Given the description of an element on the screen output the (x, y) to click on. 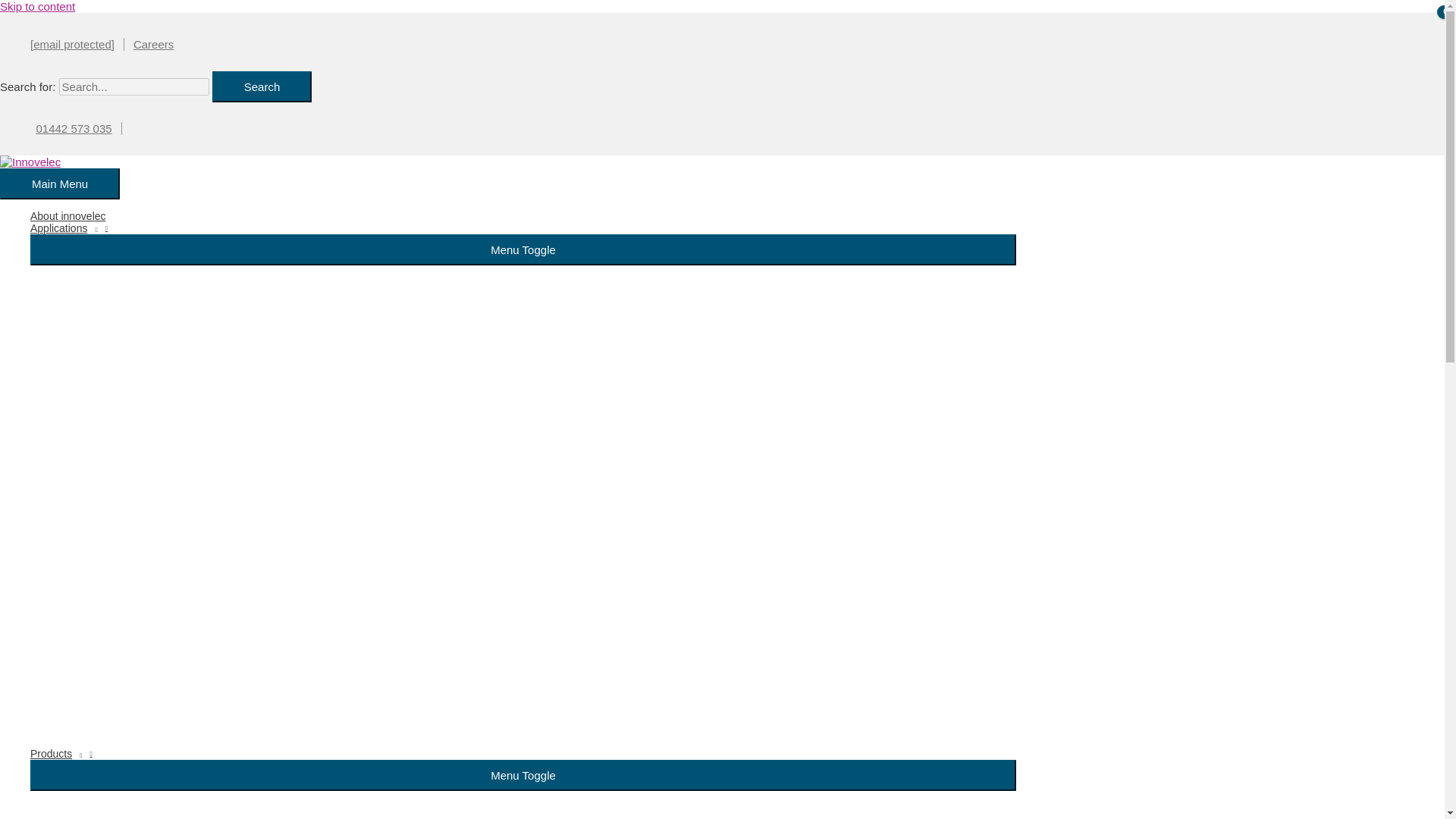
Skip to content (37, 6)
Careers (153, 43)
01442 573 035 (74, 128)
Search (262, 86)
Applications (523, 227)
Skip to content (37, 6)
Search (262, 86)
Menu Toggle (523, 249)
About innovelec (523, 215)
Products (523, 753)
Search (262, 86)
Menu Toggle (523, 775)
Main Menu (59, 183)
